Given the description of an element on the screen output the (x, y) to click on. 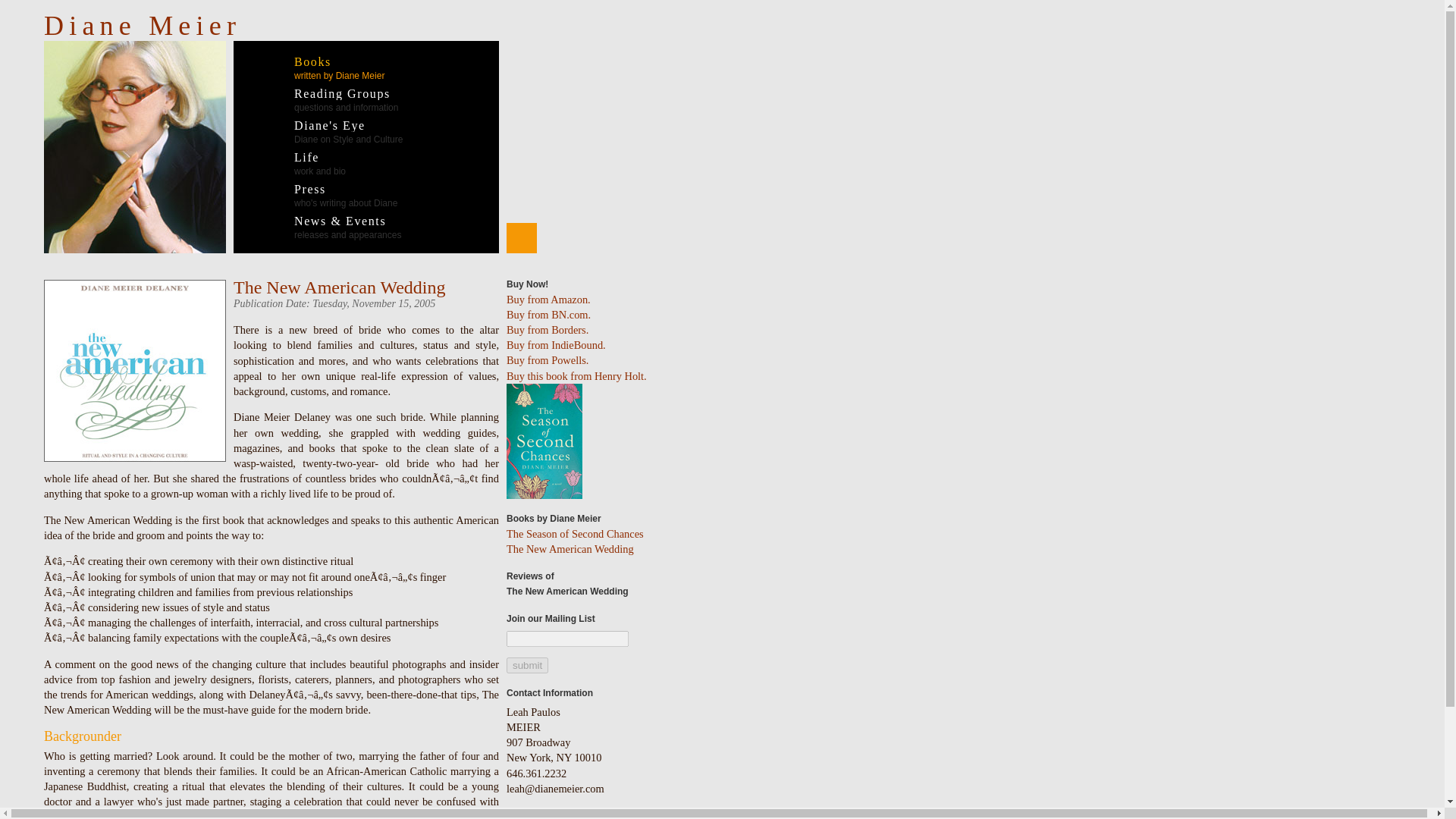
Diane Meier (142, 25)
Buy from BN.com. (330, 99)
Buy from Borders. (548, 314)
submit (547, 329)
Buy from Amazon. (527, 665)
Buy from Powells. (548, 299)
see our contact us page. (547, 359)
Buy from IndieBound. (579, 813)
The New American Wedding (323, 68)
submit (555, 345)
The Season of Second Chances (304, 163)
